Given the description of an element on the screen output the (x, y) to click on. 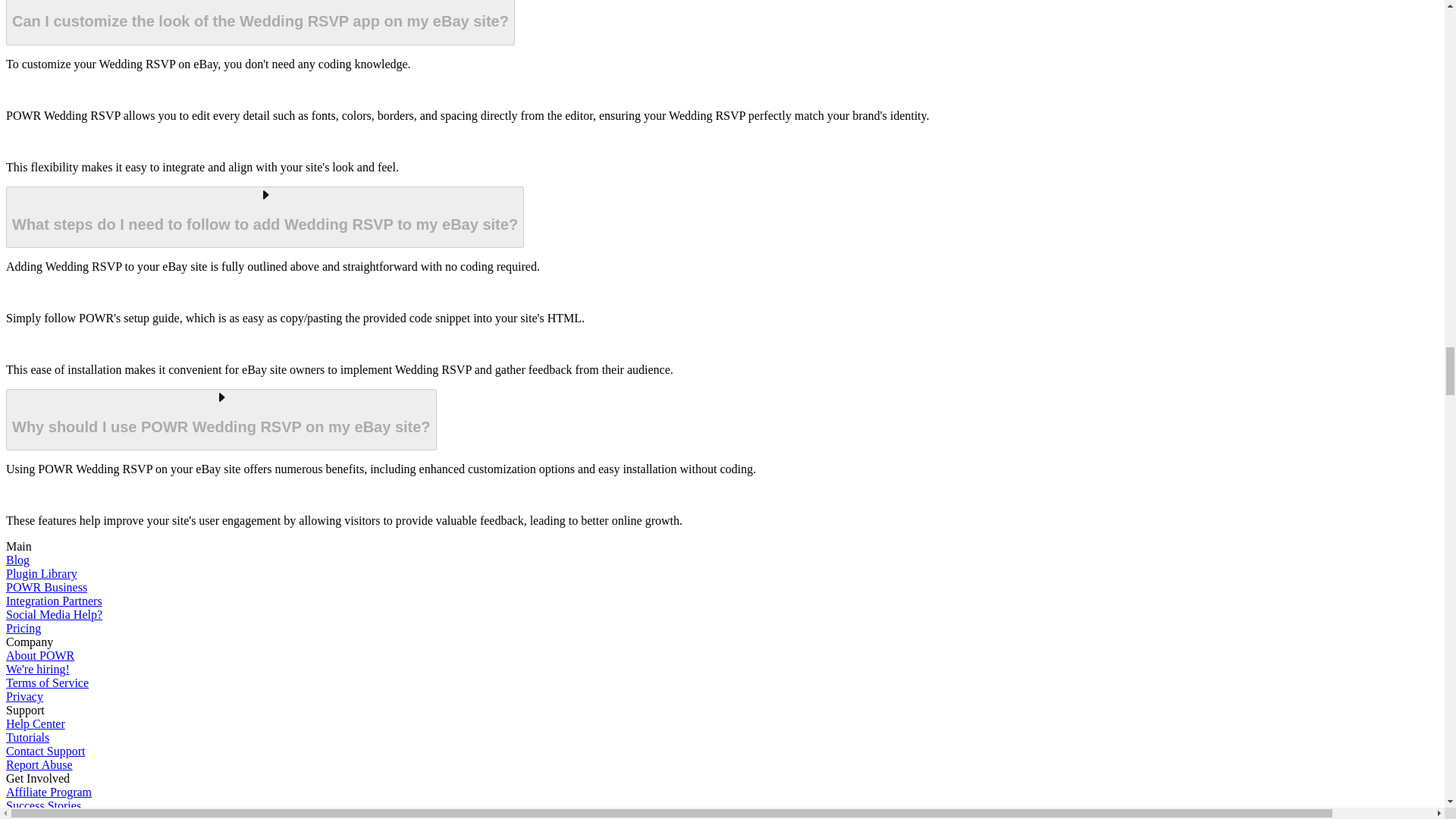
Why should I use POWR Wedding RSVP on my eBay site? (220, 419)
